Given the description of an element on the screen output the (x, y) to click on. 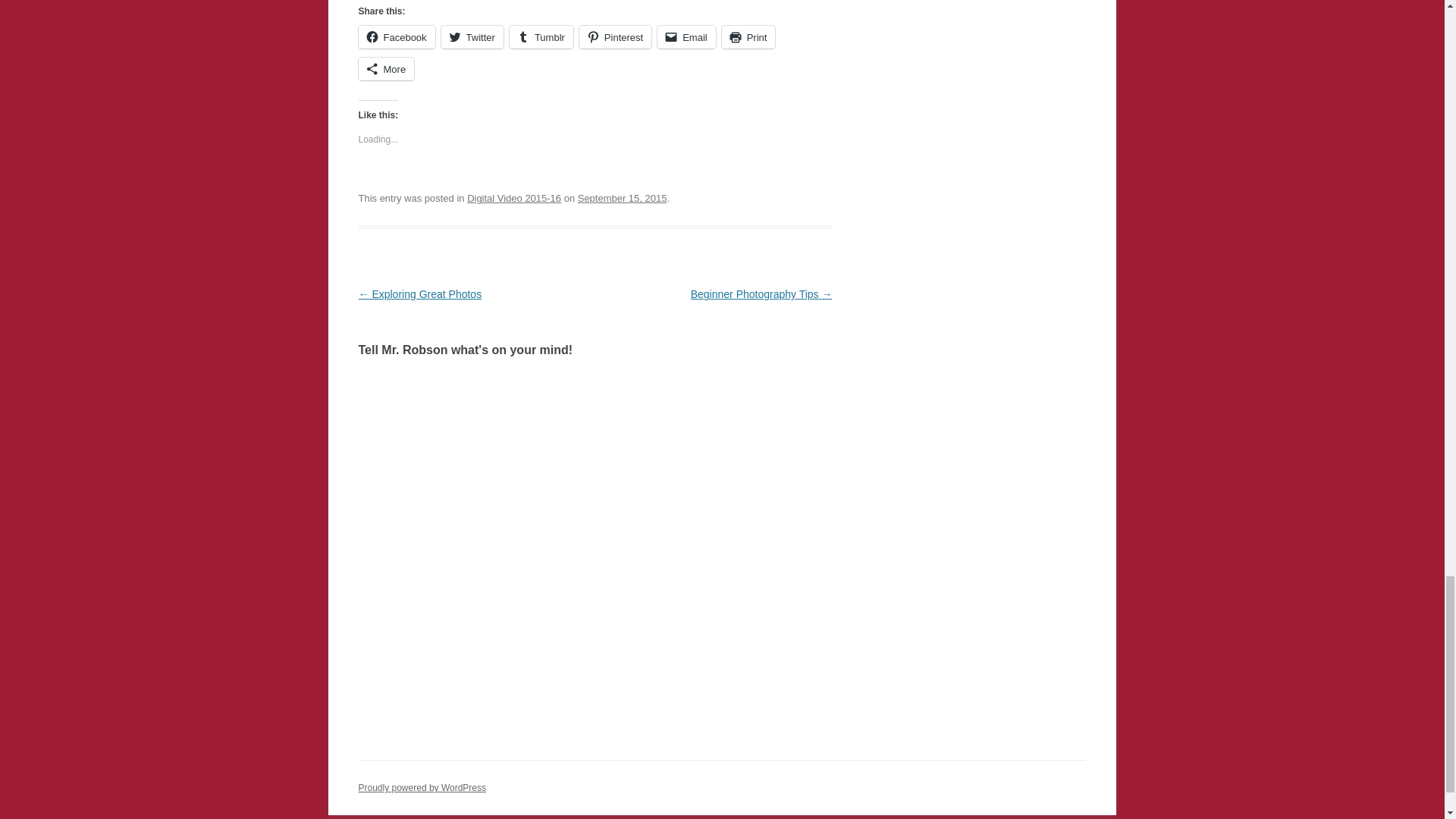
Pinterest (614, 36)
Digital Video 2015-16 (513, 197)
Email (687, 36)
8:27 am (622, 197)
Click to share on Facebook (395, 36)
Click to print (749, 36)
Tumblr (541, 36)
Facebook (395, 36)
Click to share on Twitter (472, 36)
Twitter (472, 36)
Print (749, 36)
Click to share on Pinterest (614, 36)
More (385, 68)
Click to share on Tumblr (541, 36)
